Given the description of an element on the screen output the (x, y) to click on. 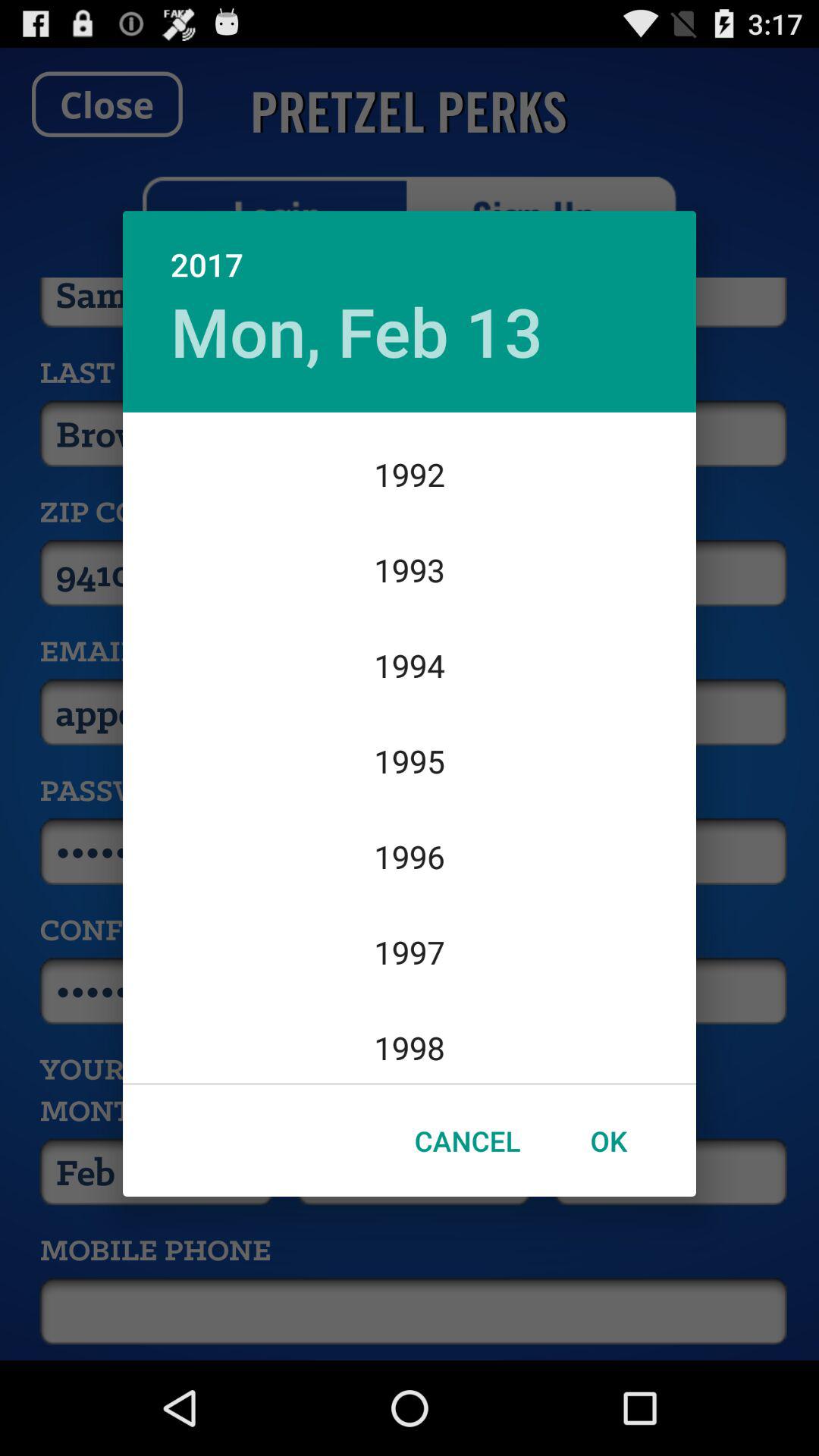
press the item to the left of ok item (467, 1140)
